Given the description of an element on the screen output the (x, y) to click on. 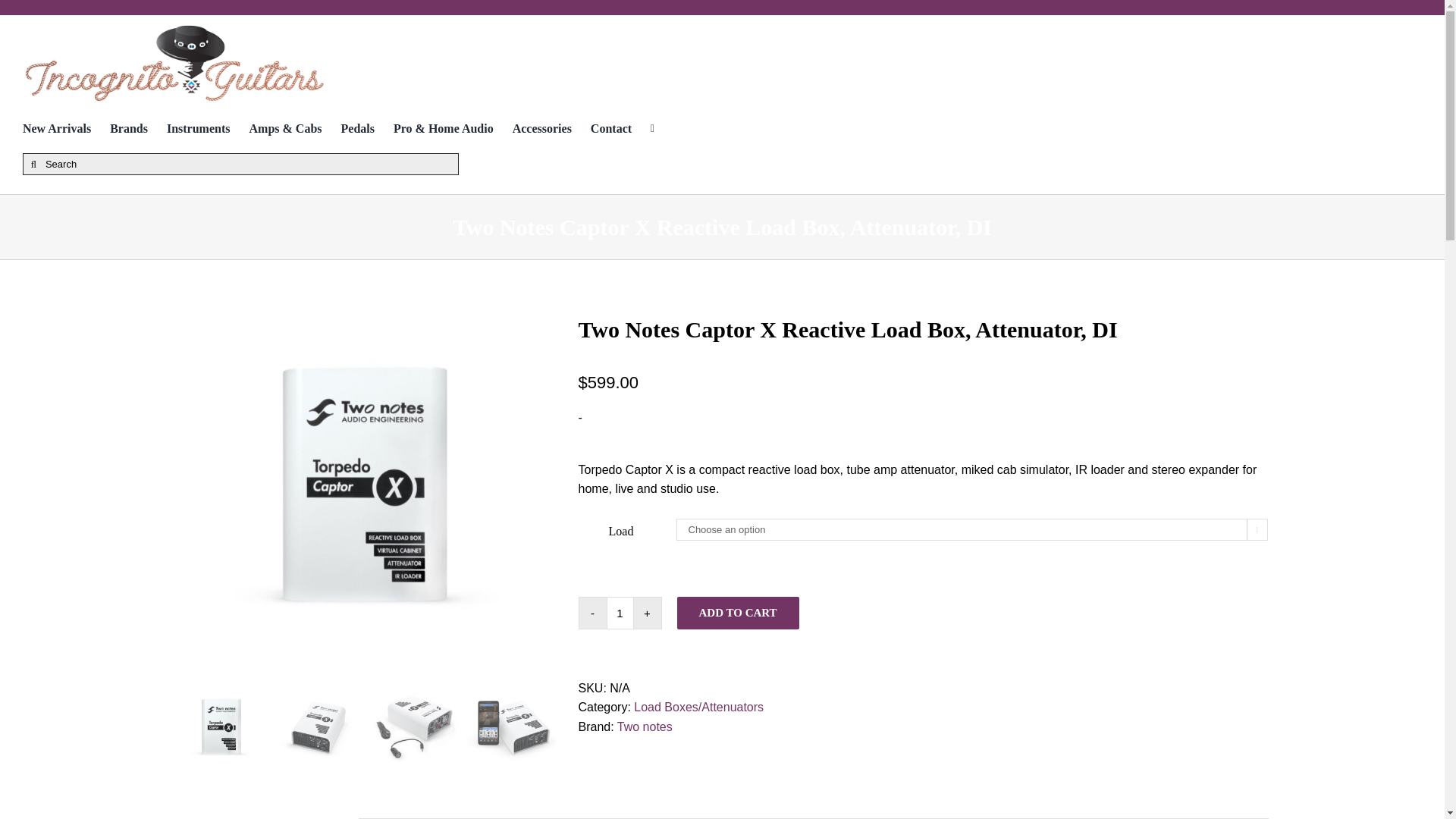
New Arrivals (66, 128)
Brands (138, 128)
